Given the description of an element on the screen output the (x, y) to click on. 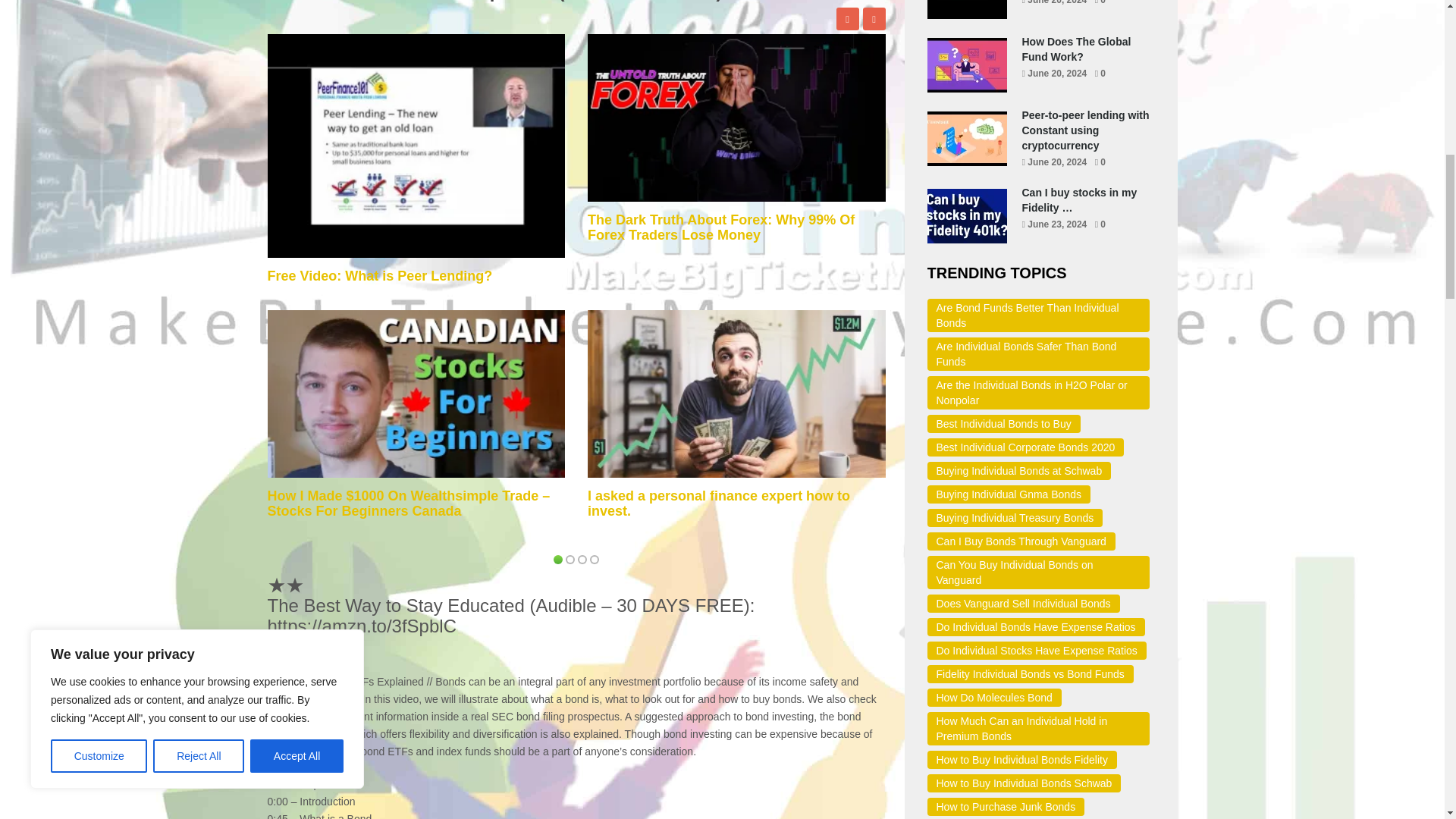
Free Video: What is Peer Lending? (379, 275)
